Given the description of an element on the screen output the (x, y) to click on. 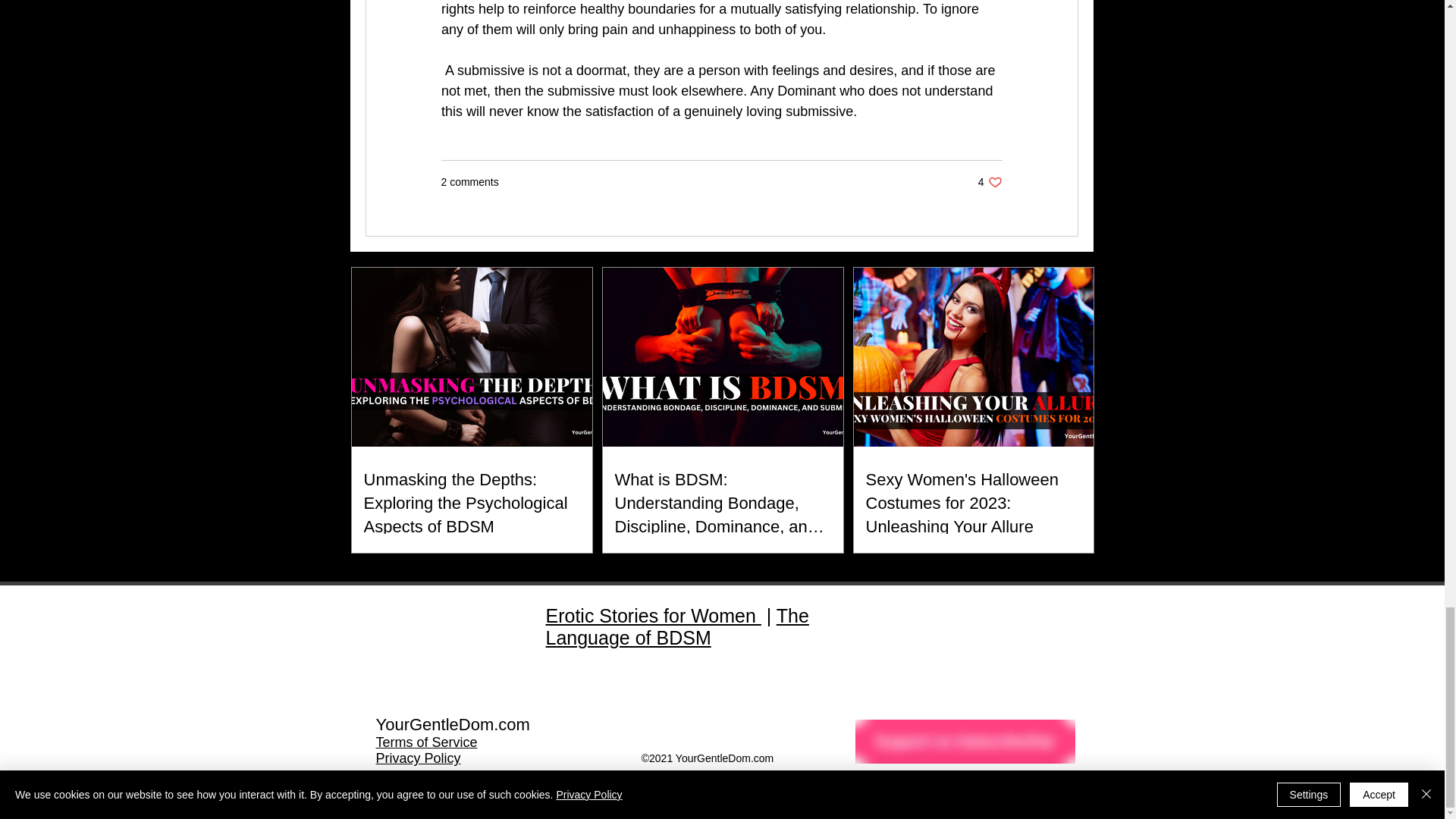
Terms of Service (426, 742)
The Language of BDSM (990, 182)
Privacy Policy (677, 626)
Erotic Stories for Women  (418, 758)
YourGentleDom.com (653, 615)
